Given the description of an element on the screen output the (x, y) to click on. 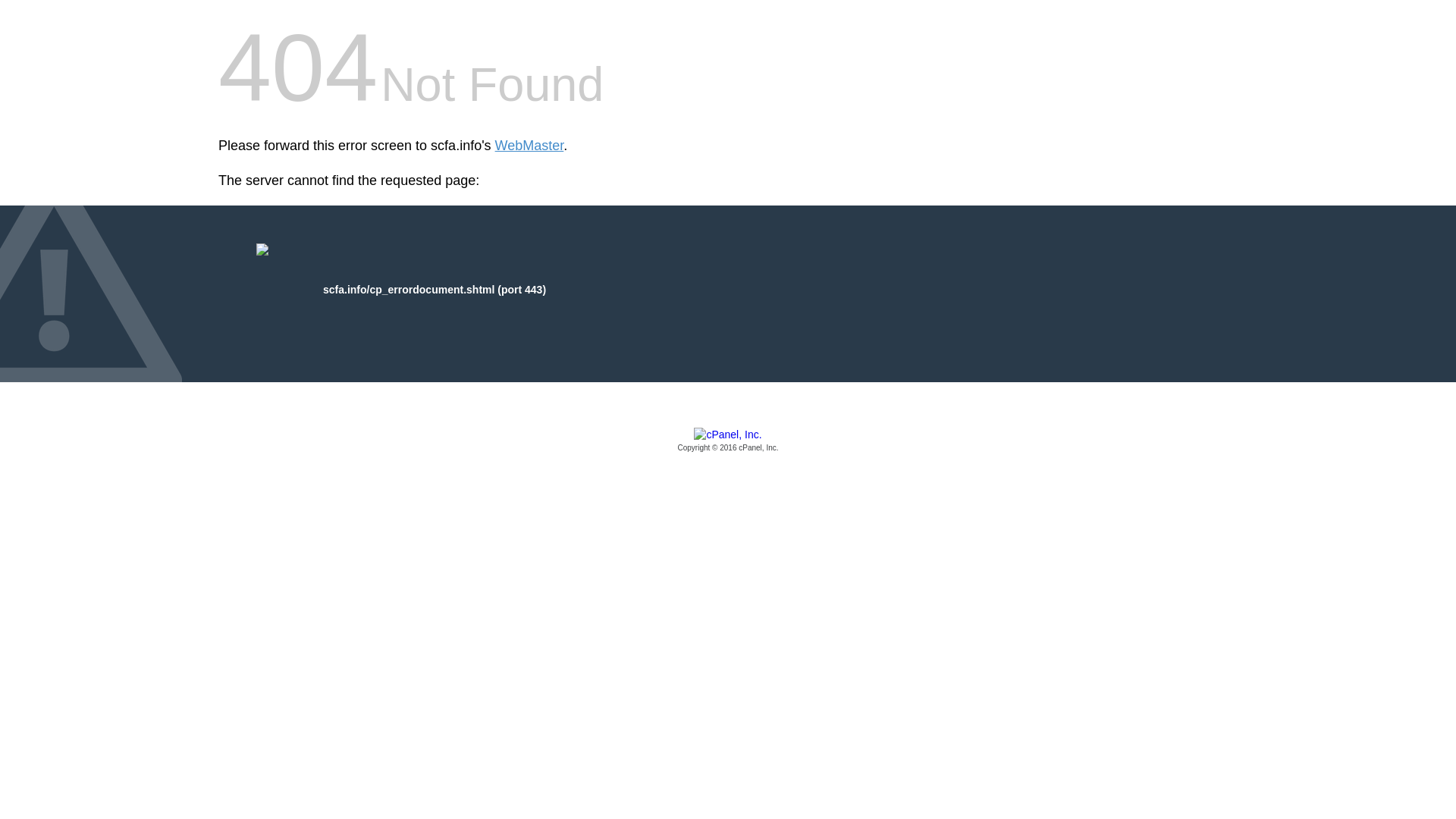
WebMaster (529, 145)
cPanel, Inc. (727, 440)
